Given the description of an element on the screen output the (x, y) to click on. 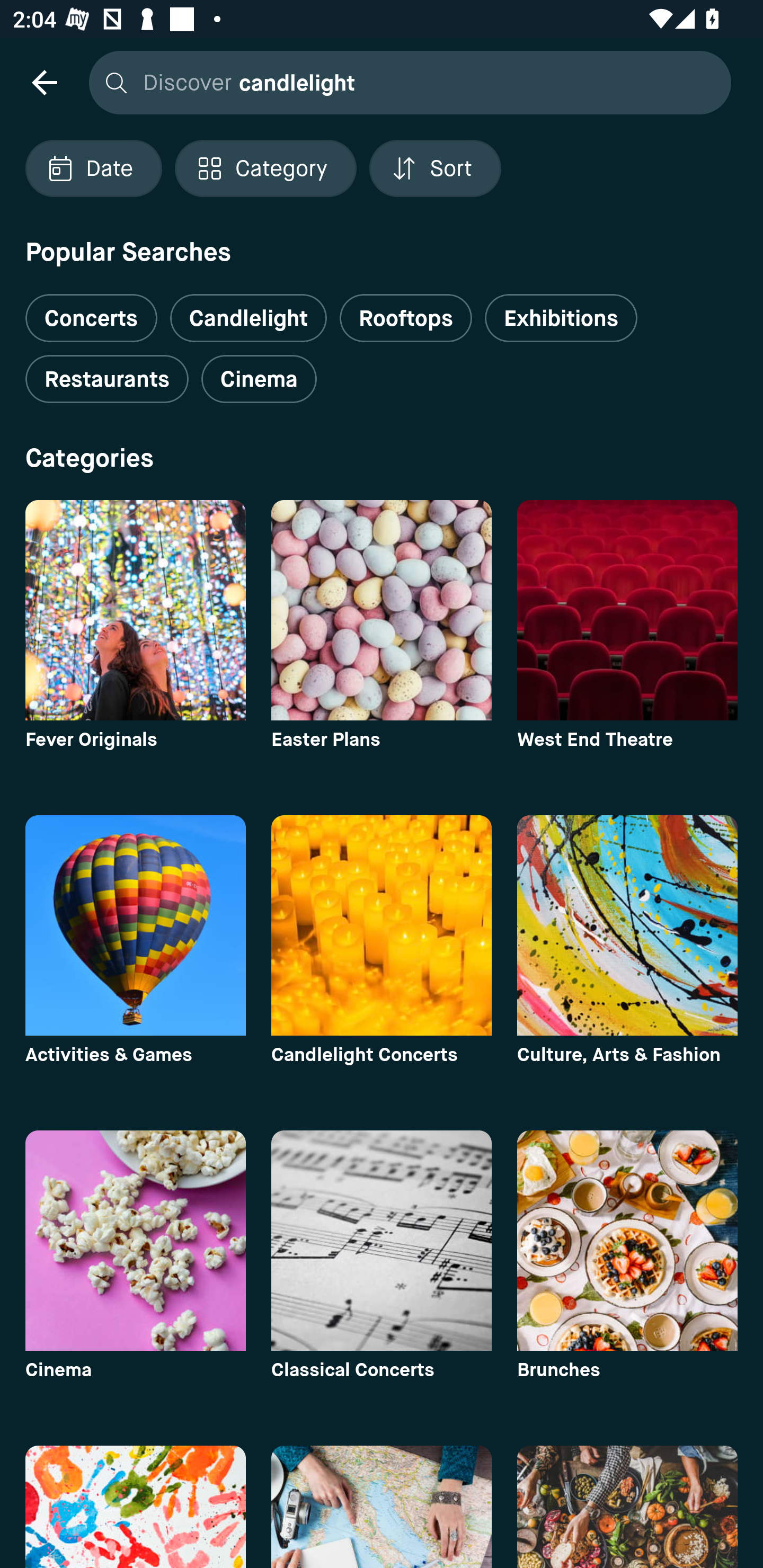
navigation icon (44, 81)
Discover candlelight (405, 81)
Localized description Date (93, 168)
Localized description Category (265, 168)
Localized description Sort (435, 168)
Concerts (91, 310)
Candlelight (248, 317)
Rooftops (405, 317)
Exhibitions (560, 317)
Restaurants (106, 379)
Cinema (258, 379)
category image (135, 609)
category image (381, 609)
category image (627, 609)
category image (135, 924)
category image (381, 924)
category image (627, 924)
category image (135, 1240)
category image (381, 1240)
category image (627, 1240)
category image (135, 1506)
category image (381, 1506)
category image (627, 1506)
